Given the description of an element on the screen output the (x, y) to click on. 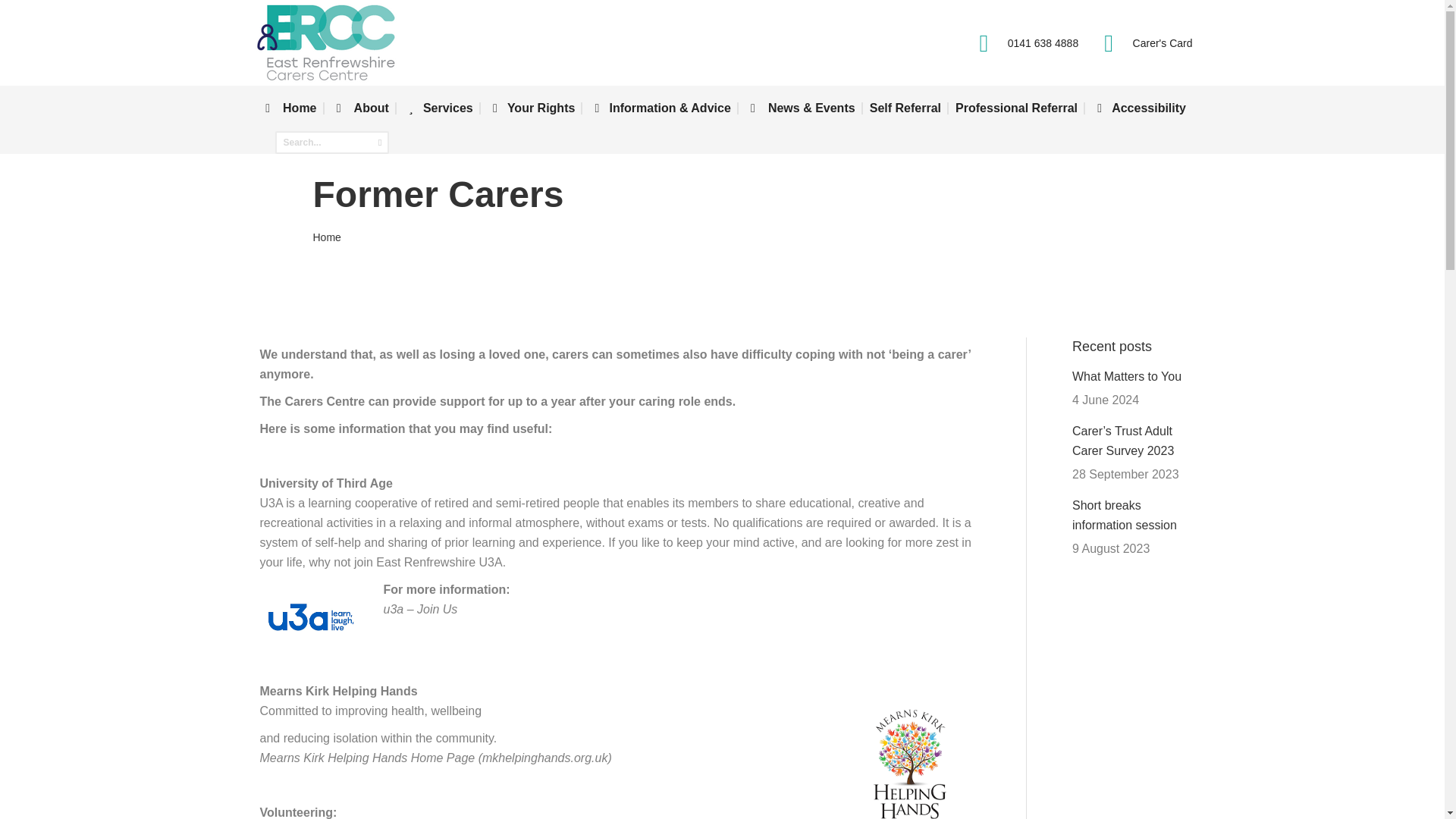
Home (288, 108)
About (359, 108)
Professional Referral (1016, 108)
Accessibility (1139, 108)
Home (326, 237)
Self Referral (905, 108)
Carer's Card (1142, 42)
Go! (24, 18)
Search form (331, 142)
Your Rights (530, 108)
Services (437, 108)
